Given the description of an element on the screen output the (x, y) to click on. 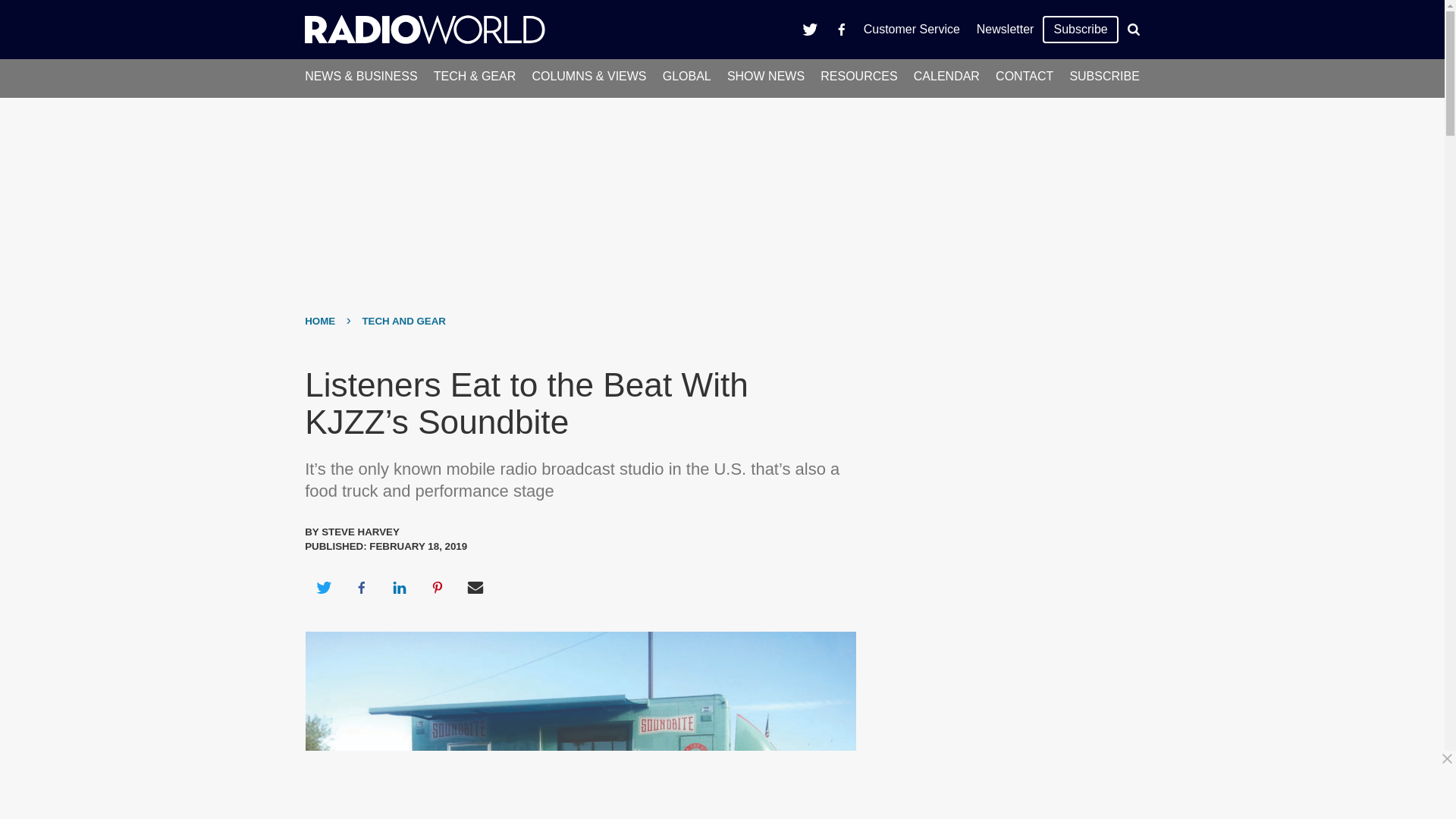
Share on Pinterest (438, 587)
Share on LinkedIn (399, 587)
Share on Twitter (323, 587)
Share on Facebook (361, 587)
Advertisement (1005, 667)
Share via Email (476, 587)
Customer Service (912, 29)
Newsletter (1005, 29)
Advertisement (727, 785)
